Given the description of an element on the screen output the (x, y) to click on. 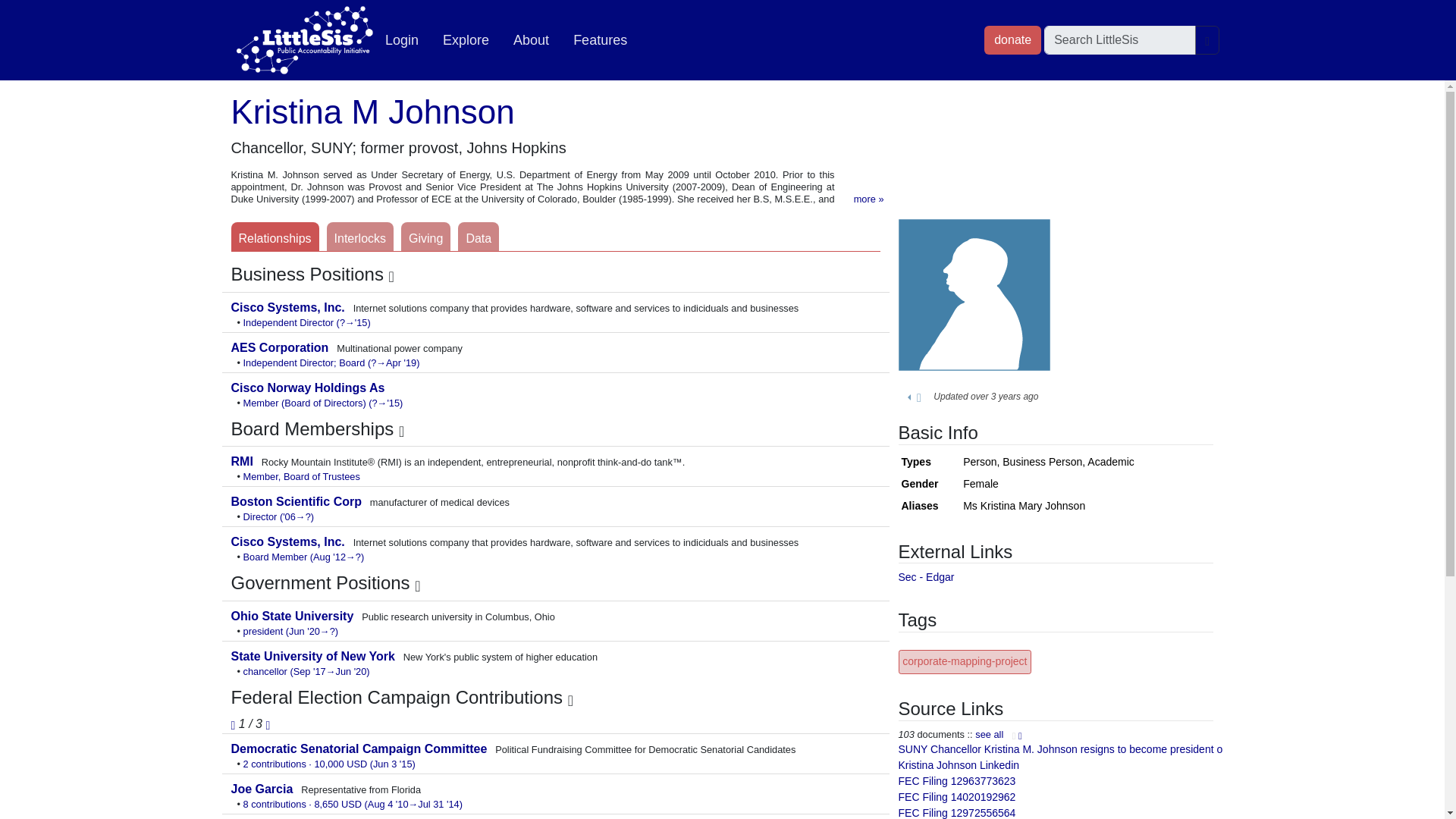
New York's public system of higher education (313, 656)
Explore (465, 40)
Multinational power company (280, 347)
About (530, 40)
manufacturer of medical devices (297, 501)
donate (1012, 39)
Features (599, 40)
Public research university in Columbus, Ohio (293, 615)
Representative from Florida (262, 788)
Login (401, 40)
